Given the description of an element on the screen output the (x, y) to click on. 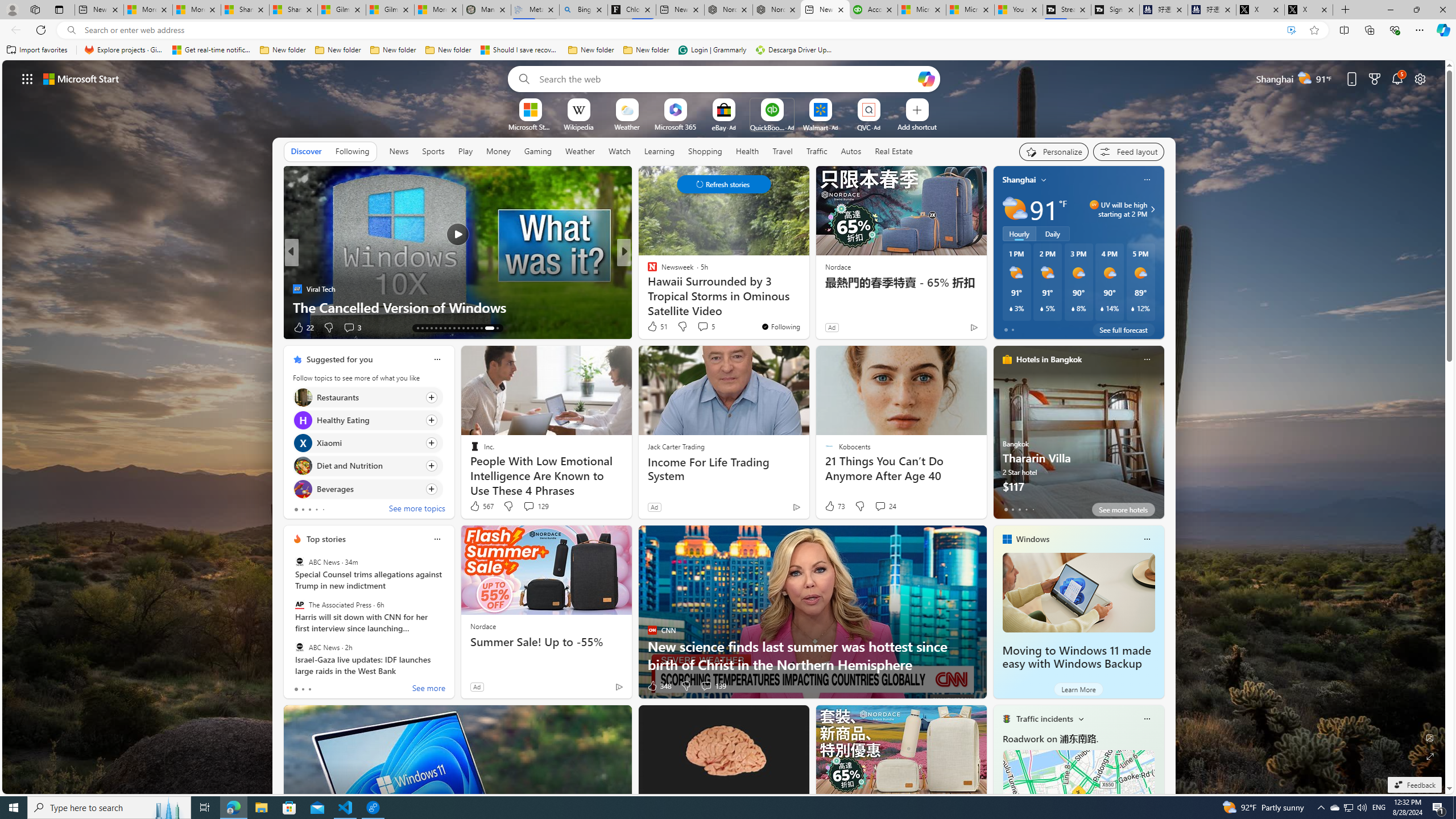
Play (465, 151)
Manatee Mortality Statistics | FWC (486, 9)
View comments 139 Comment (712, 685)
Hotels in Bangkok (1048, 359)
AutomationID: tab-22 (440, 328)
